Given the description of an element on the screen output the (x, y) to click on. 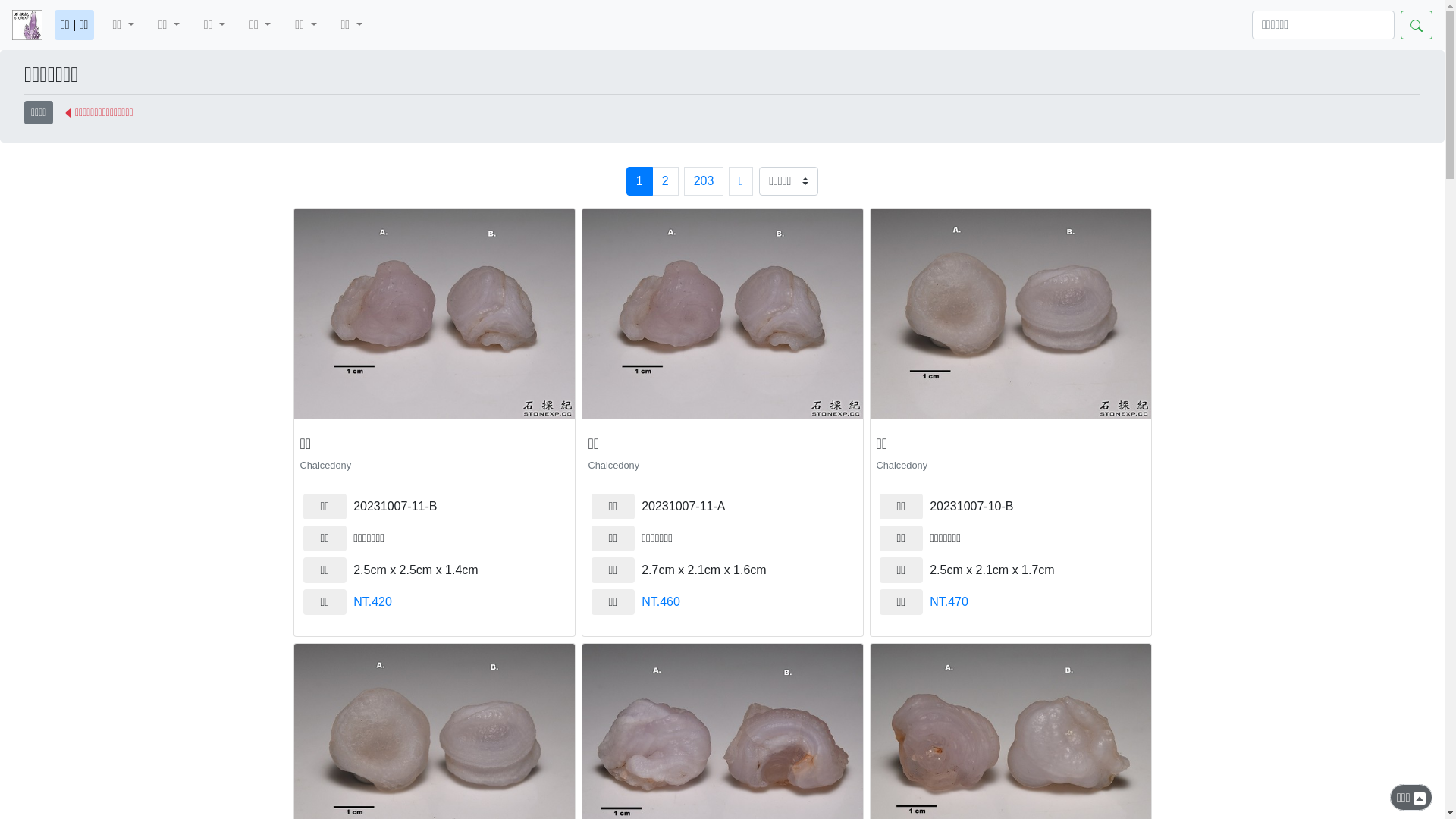
2 Element type: text (665, 180)
203 Element type: text (704, 180)
